Given the description of an element on the screen output the (x, y) to click on. 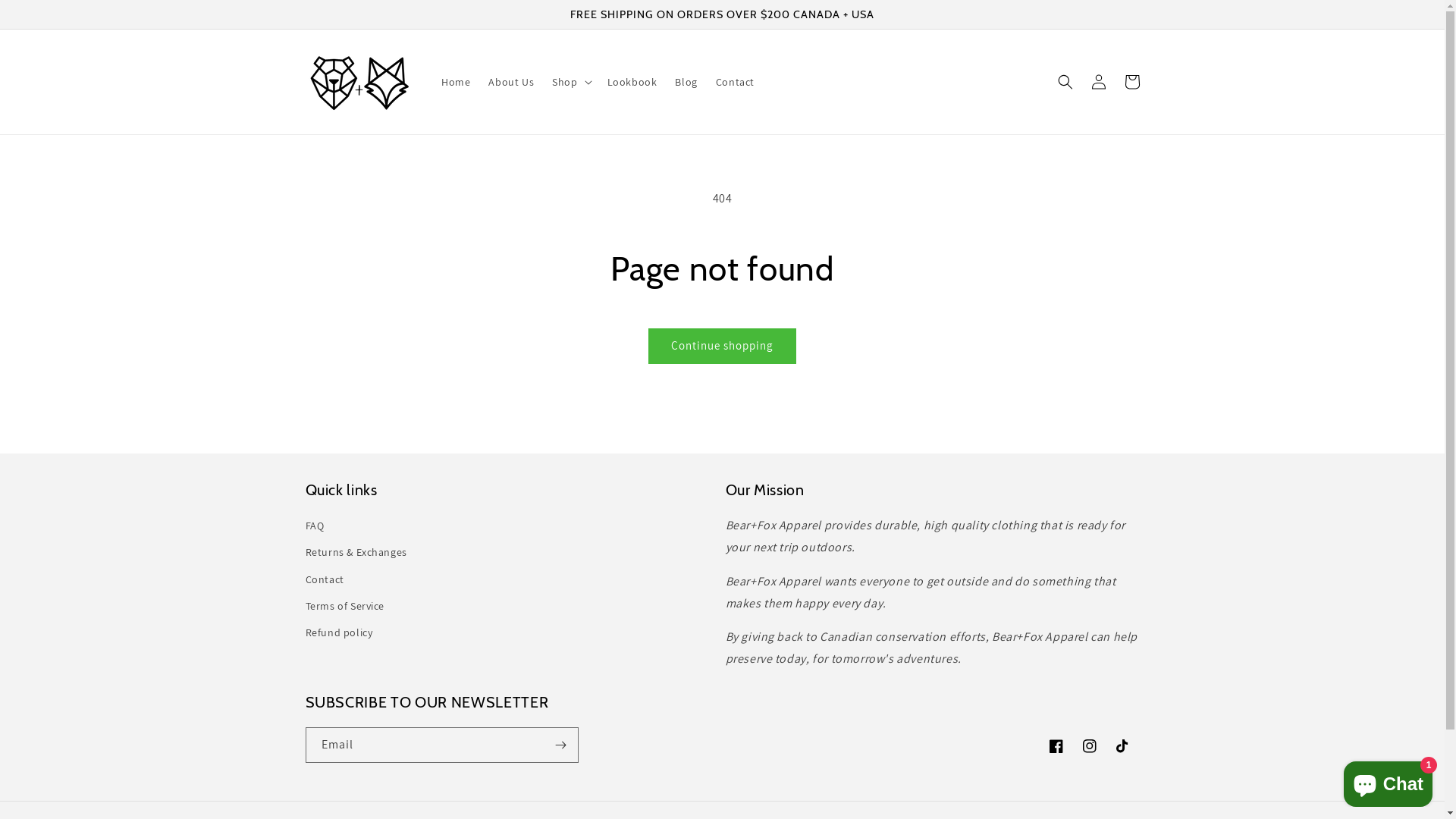
Returns & Exchanges Element type: text (355, 552)
Log in Element type: text (1097, 81)
Cart Element type: text (1131, 81)
Refund policy Element type: text (338, 632)
About Us Element type: text (510, 81)
Lookbook Element type: text (632, 81)
Contact Element type: text (323, 579)
Shopify online store chat Element type: hover (1388, 780)
Home Element type: text (455, 81)
Terms of Service Element type: text (344, 606)
Continue shopping Element type: text (722, 346)
Blog Element type: text (685, 81)
FAQ Element type: text (313, 527)
Instagram Element type: text (1088, 745)
Facebook Element type: text (1055, 745)
Contact Element type: text (734, 81)
TikTok Element type: text (1122, 745)
